Given the description of an element on the screen output the (x, y) to click on. 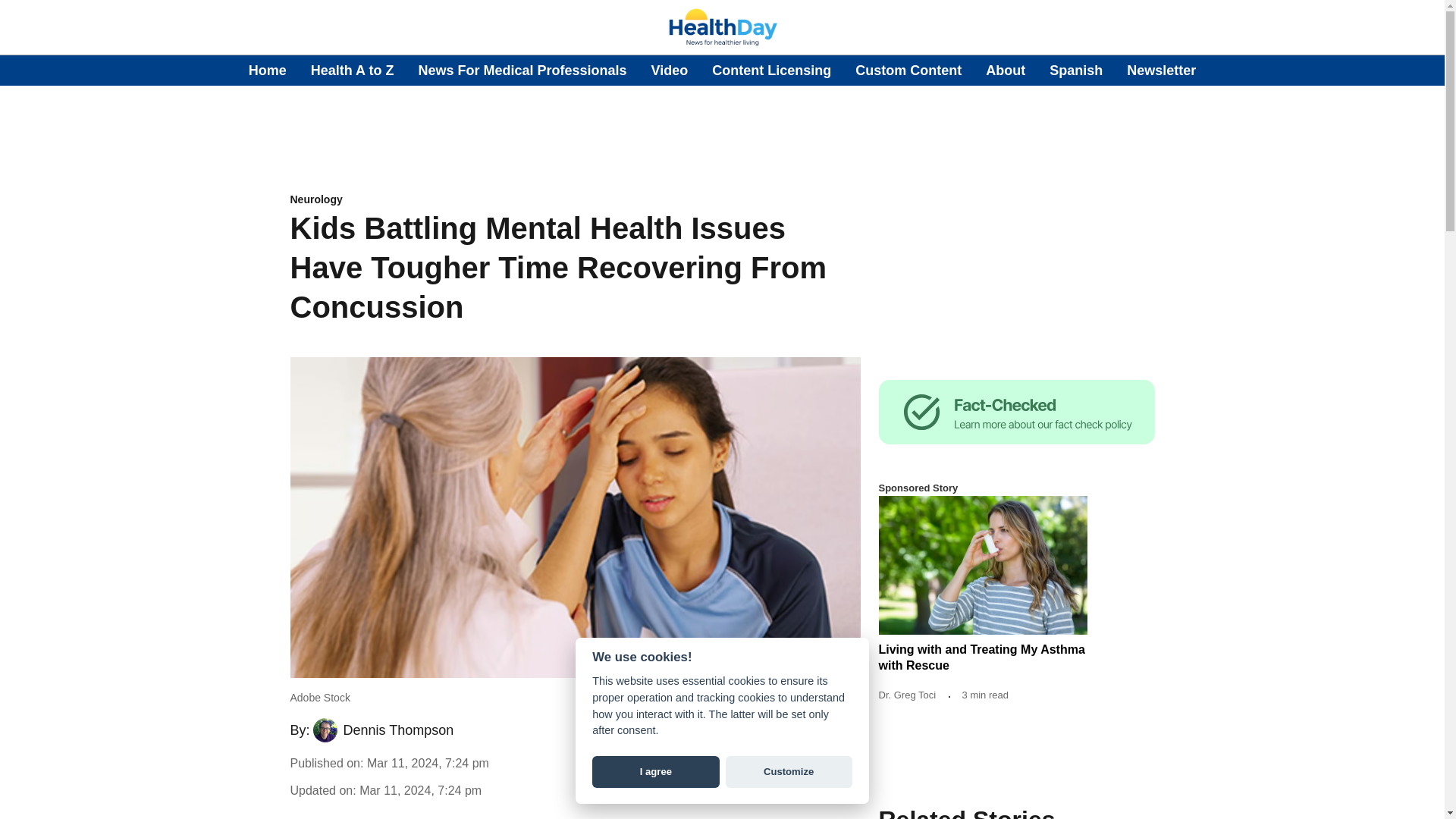
Home (267, 70)
Health A to Z (352, 70)
2024-03-11 11:24 (427, 762)
2024-03-11 11:24 (420, 789)
